Given the description of an element on the screen output the (x, y) to click on. 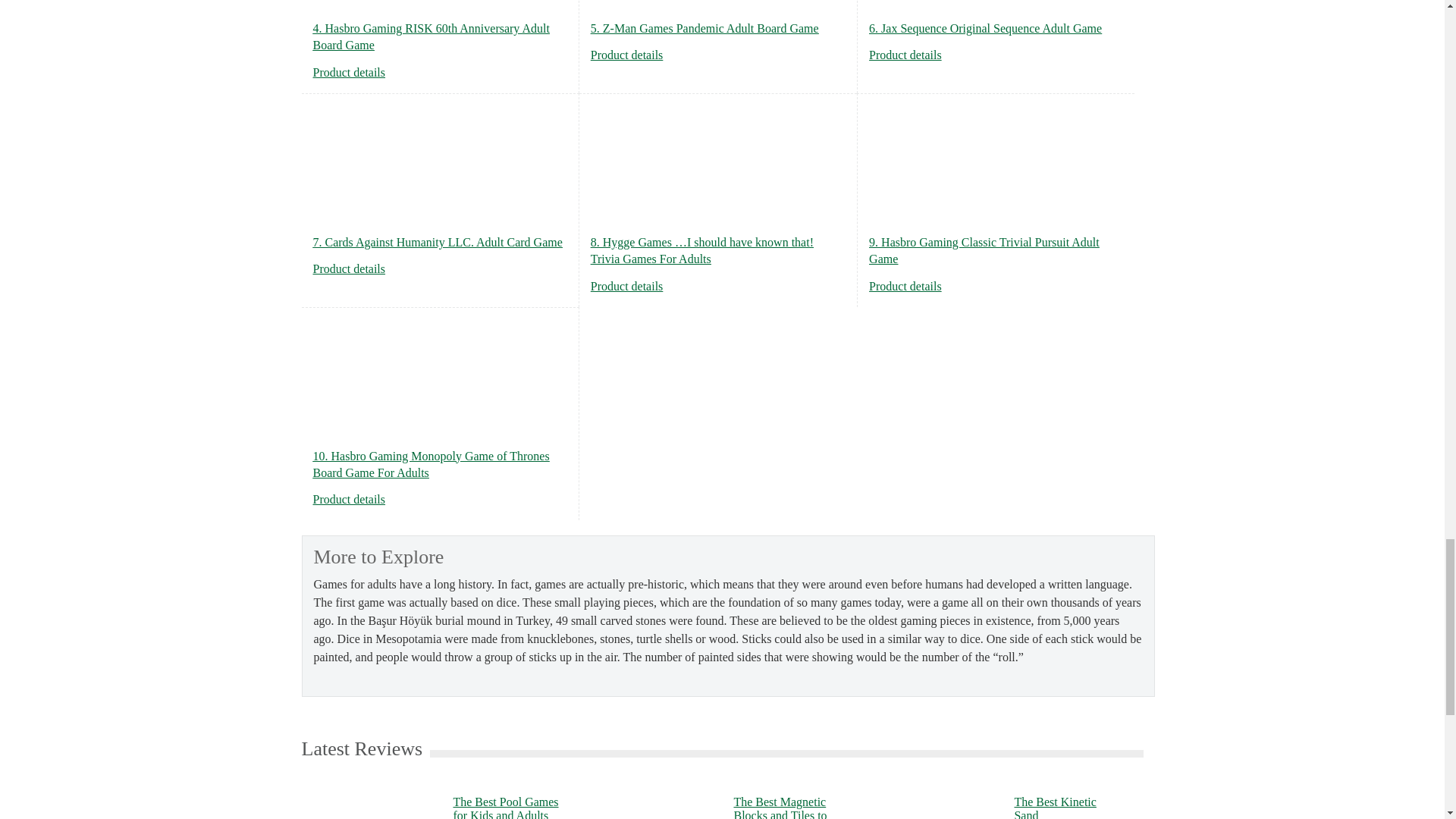
Hasbro Gaming Monopoly Game of Thrones Board Game For Adults (349, 499)
Hasbro Gaming RISK 60th Anniversary Adult Board Game (349, 72)
Hasbro Gaming Classic Trivial Pursuit Adult Game (905, 286)
Cards Against Humanity LLC. Adult Card Game (349, 268)
Jax Sequence Original Sequence Adult Game (905, 54)
Z-Man Games Pandemic Adult Board Game (627, 54)
